Given the description of an element on the screen output the (x, y) to click on. 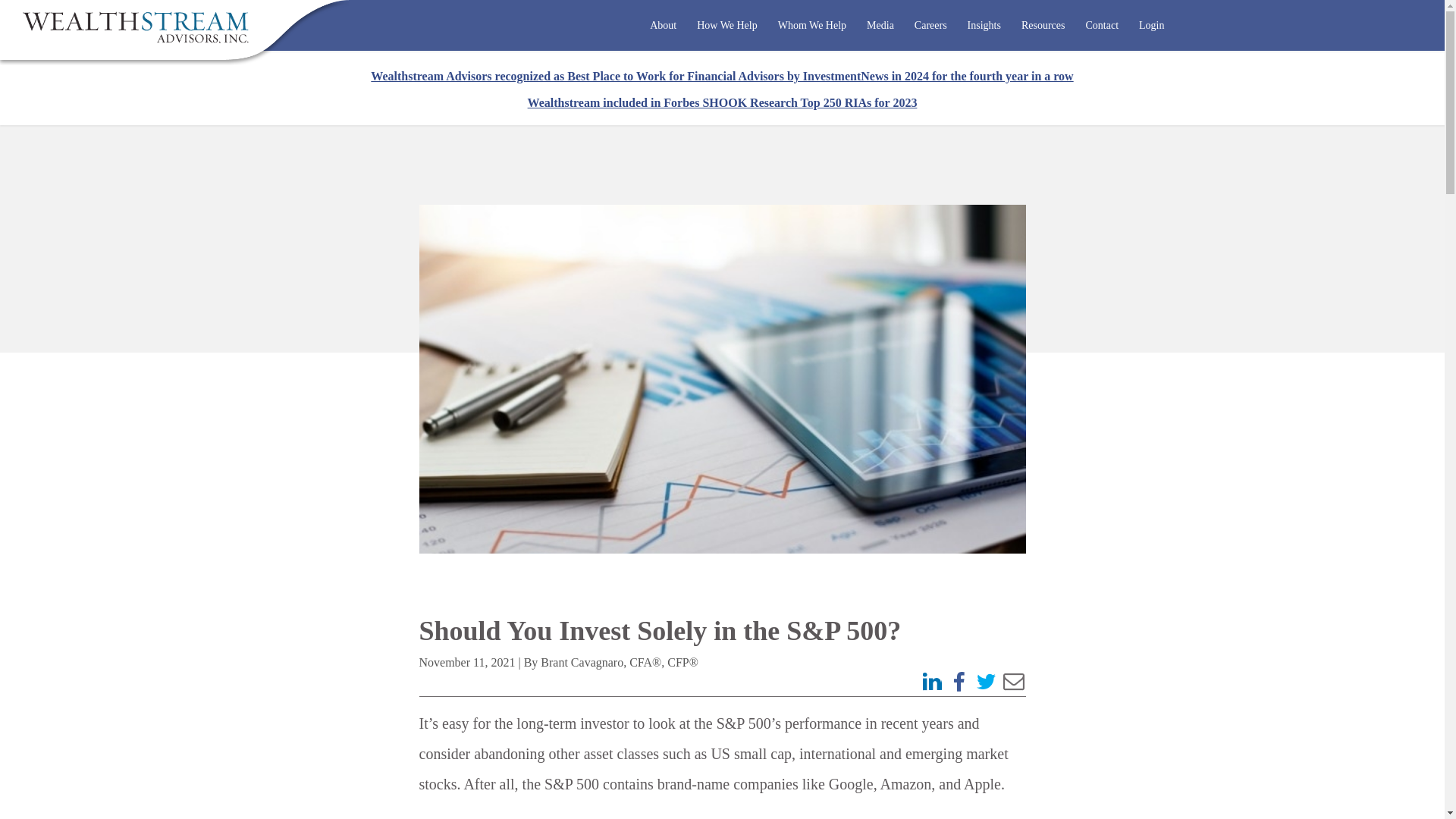
Contact (1102, 25)
Login (1150, 25)
Media (879, 25)
Wealth Stream Advisors (135, 27)
Insights (984, 25)
Careers (930, 25)
Whom We Help (811, 25)
Resources (1043, 25)
